Given the description of an element on the screen output the (x, y) to click on. 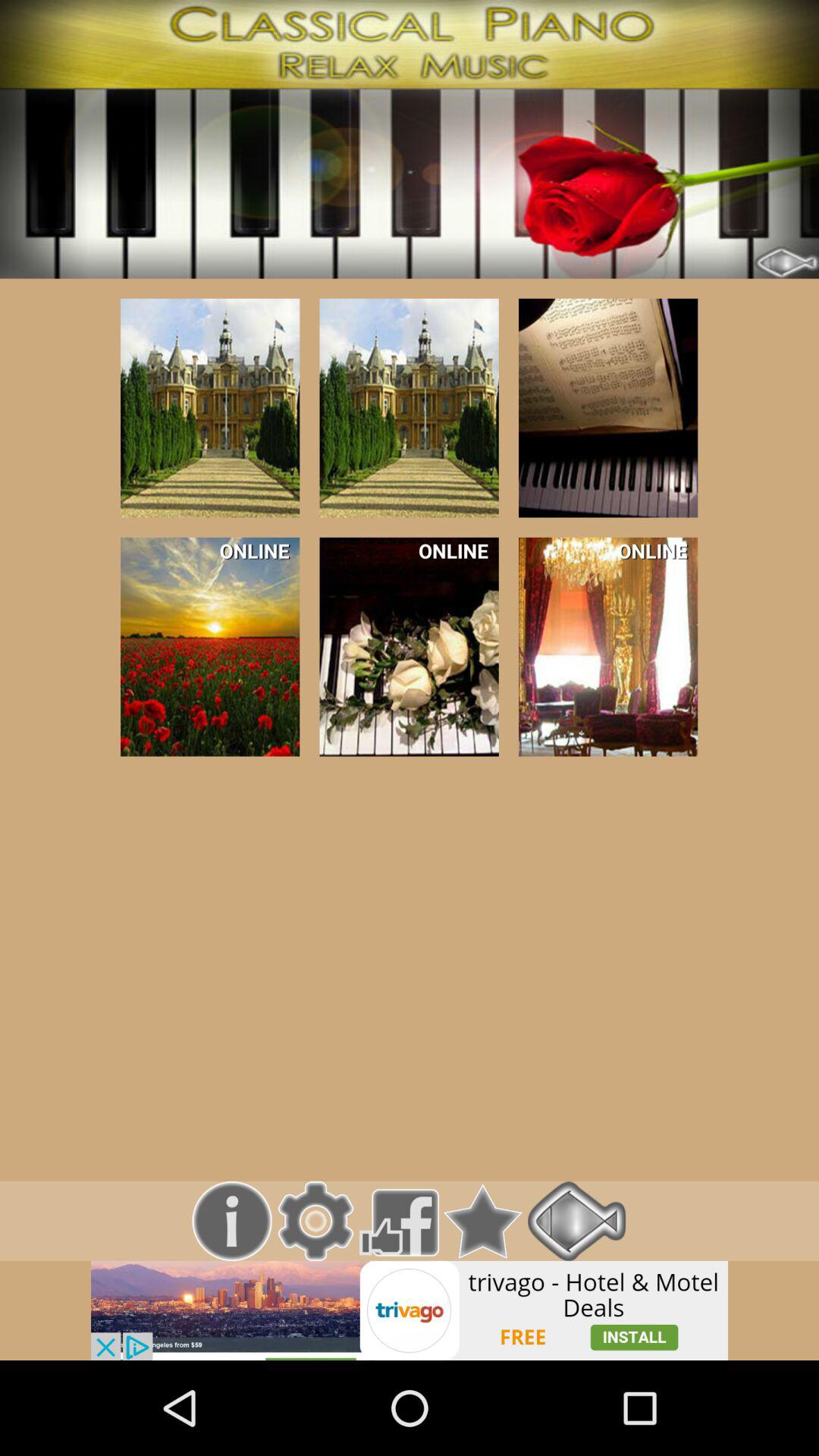
link to advertisement (409, 1310)
